Given the description of an element on the screen output the (x, y) to click on. 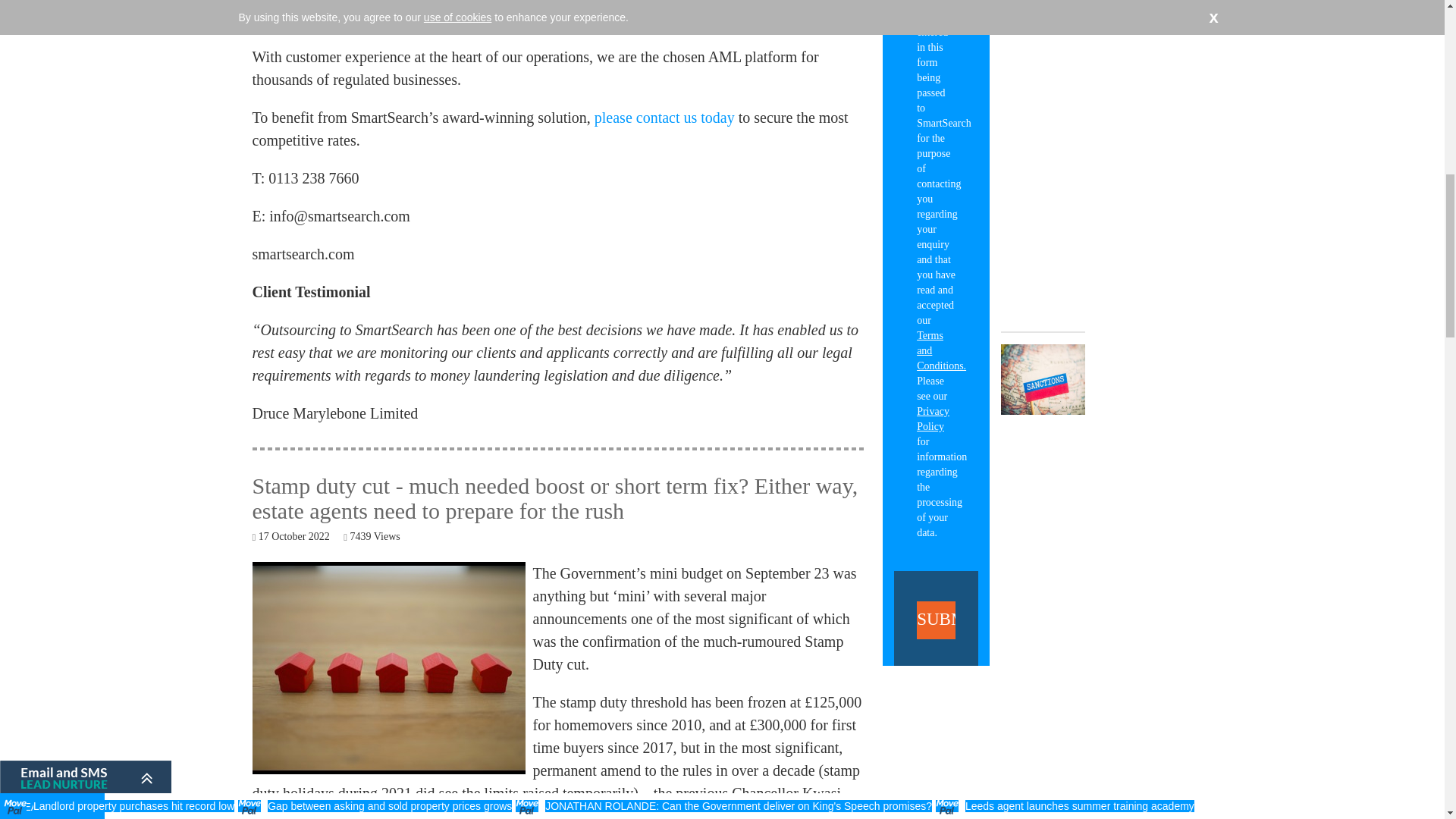
Submit (936, 619)
